Given the description of an element on the screen output the (x, y) to click on. 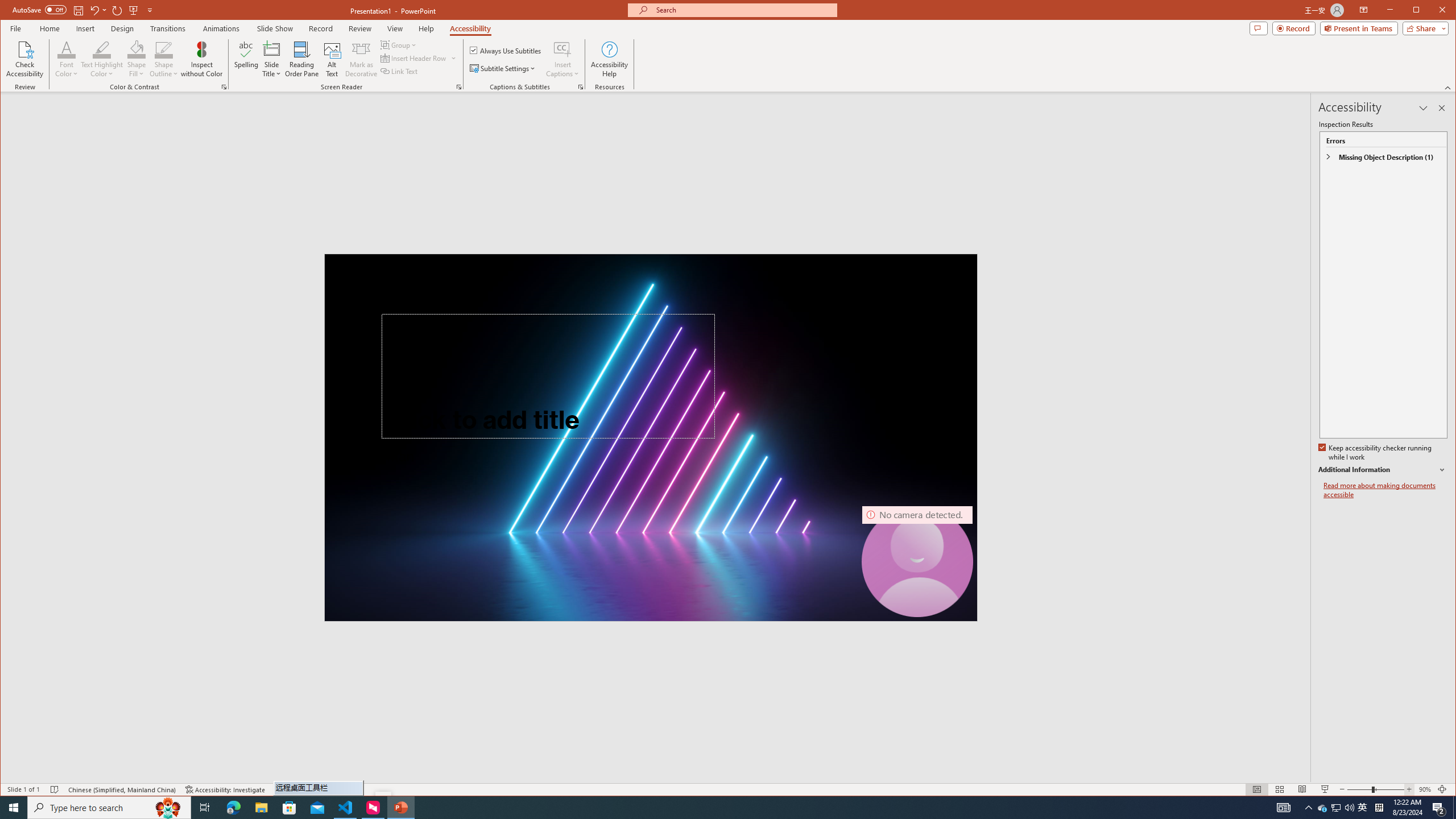
Group (399, 44)
Link Text (399, 70)
